Given the description of an element on the screen output the (x, y) to click on. 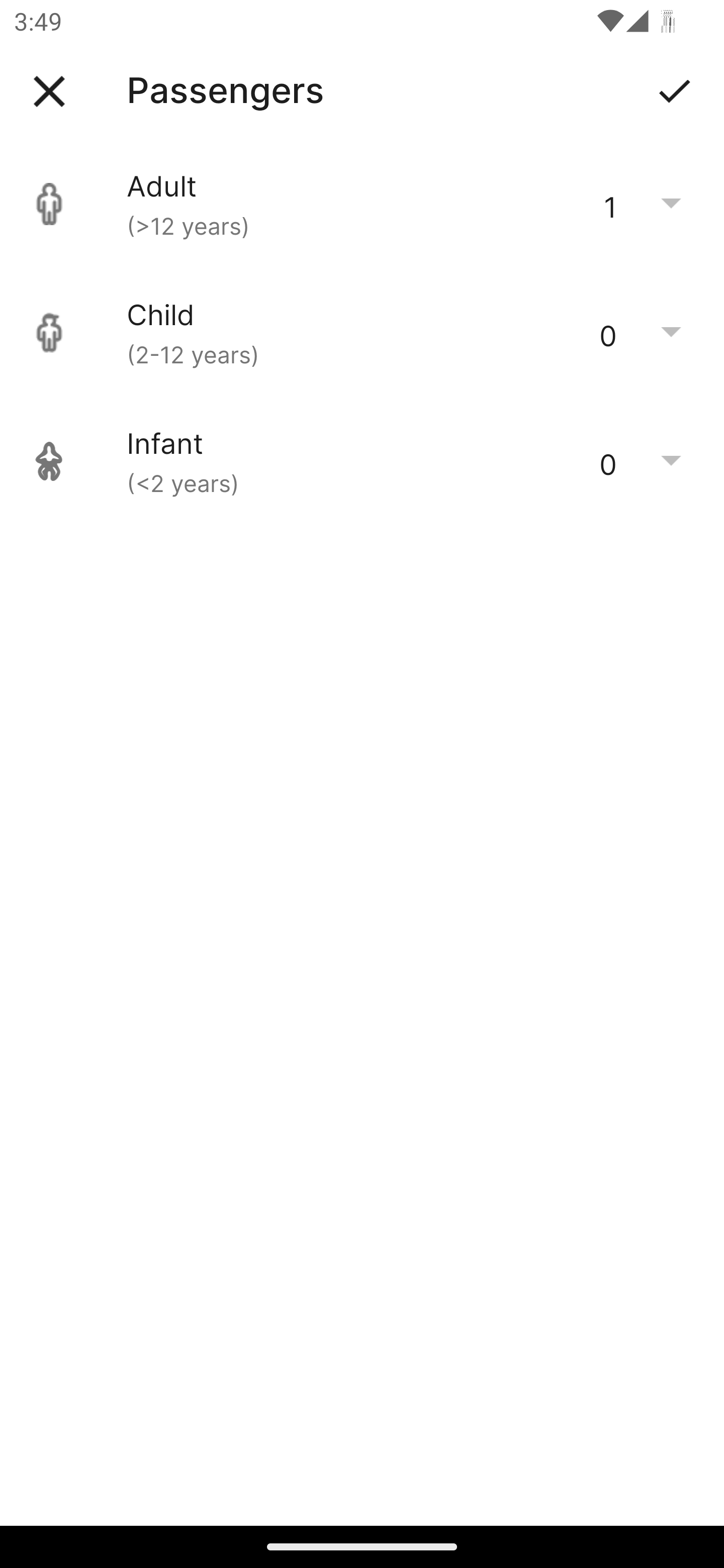
Adult (>12 years) 1 (362, 204)
Child (2-12 years) 0 (362, 332)
Infant (<2 years) 0 (362, 461)
